Given the description of an element on the screen output the (x, y) to click on. 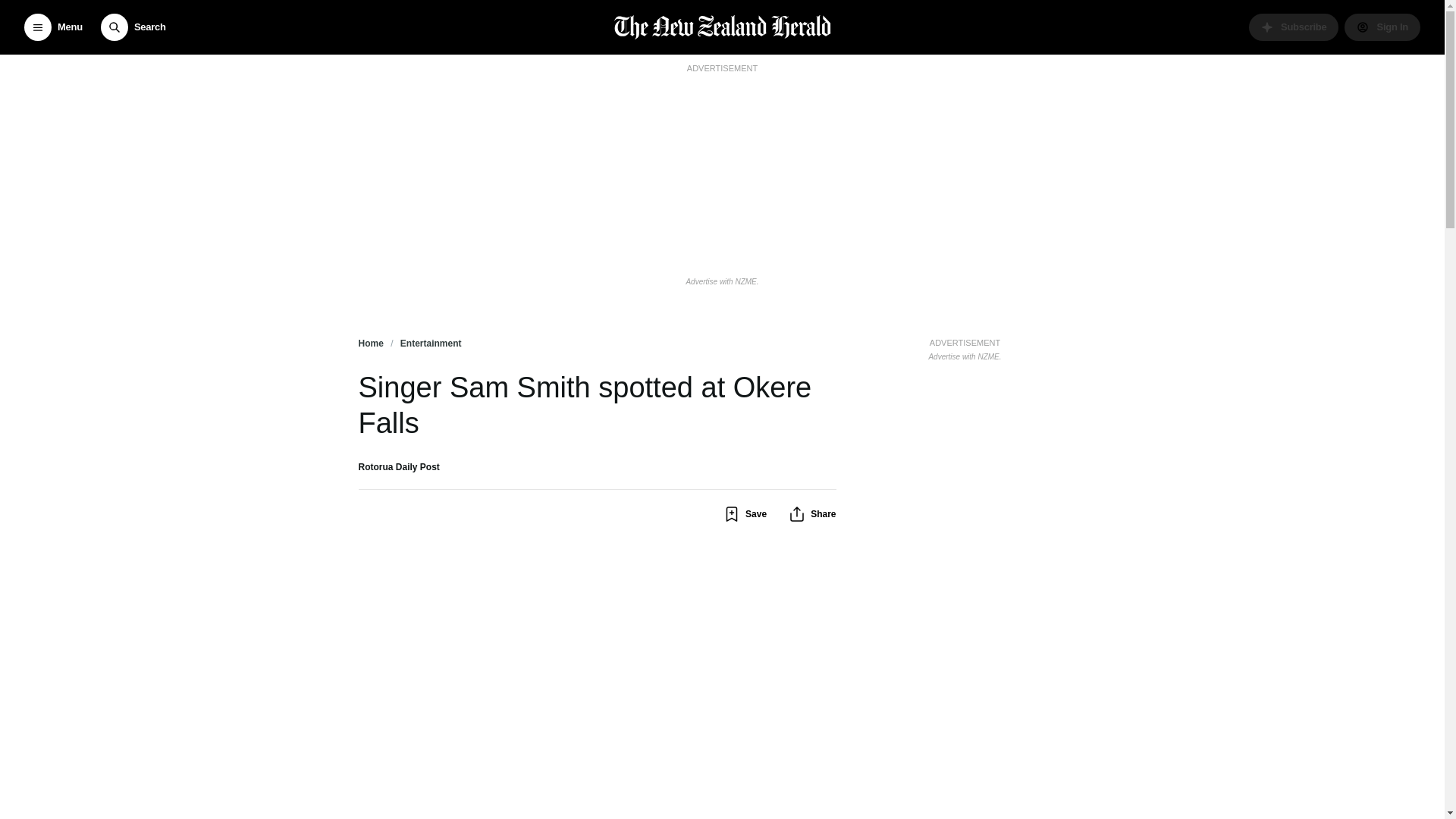
Search (132, 26)
Manage your account (1382, 26)
Sign In (1382, 26)
Menu (53, 26)
Subscribe (1294, 26)
